Given the description of an element on the screen output the (x, y) to click on. 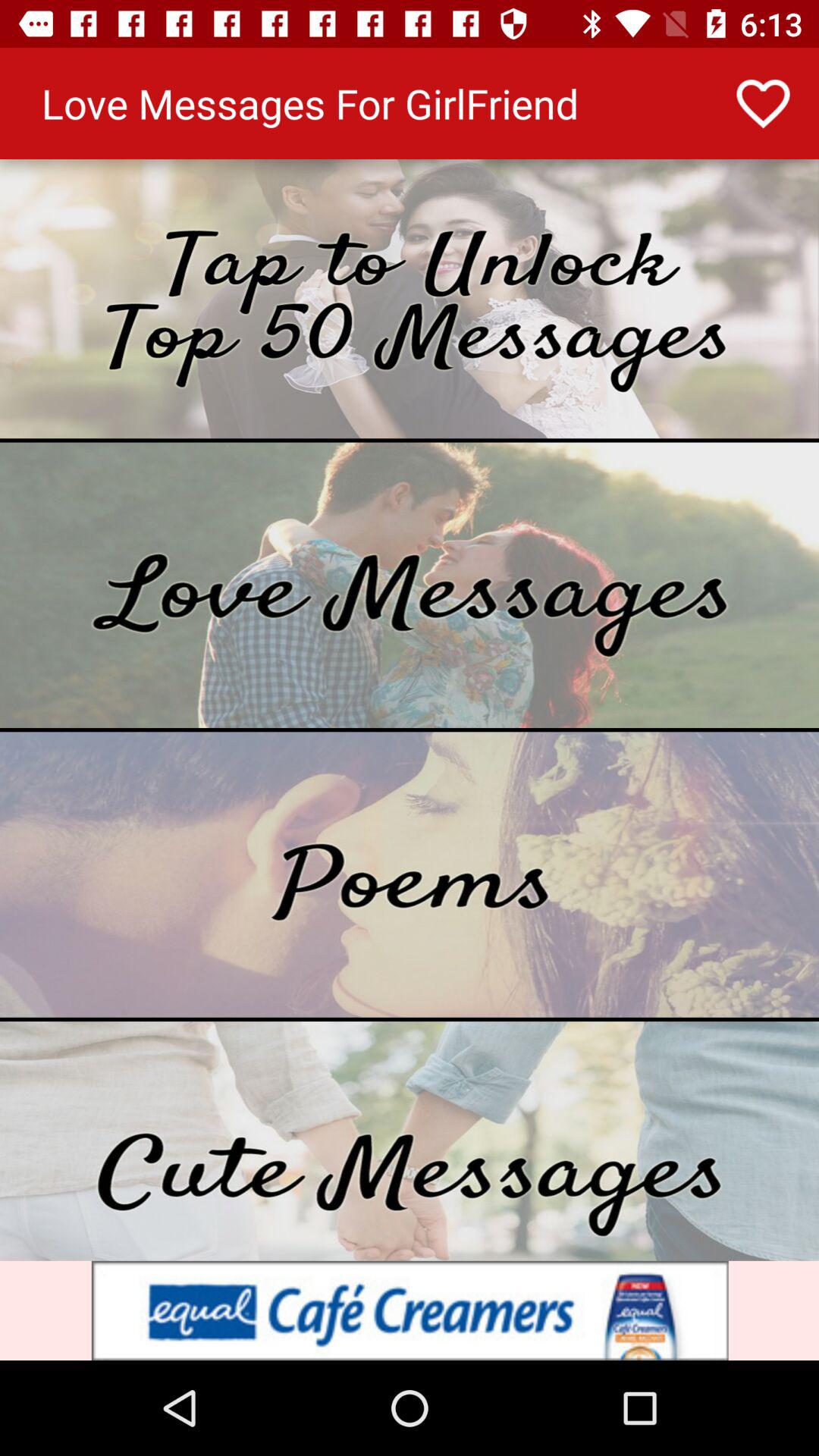
show poems (409, 874)
